Given the description of an element on the screen output the (x, y) to click on. 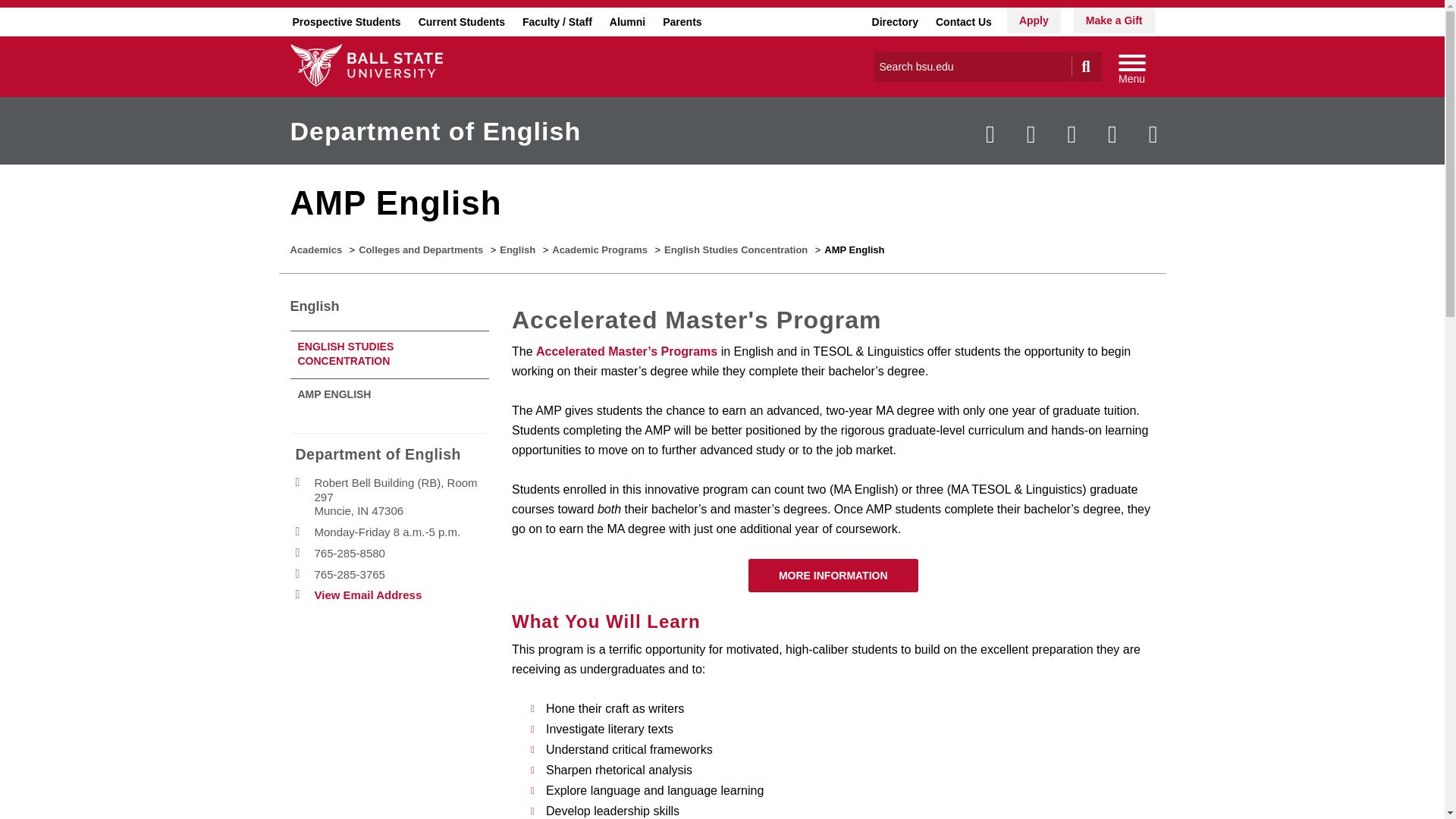
View Email Address (368, 595)
Make a Gift (1114, 20)
Alumni (627, 21)
Tools and Information for Parents and Families (682, 21)
Current Students (461, 21)
How to Apply to Ball State University (1034, 20)
Ball State phone numbers, email and mailing addresses (963, 21)
Apply (1034, 20)
Learn How You Can Give to Ball State University (1114, 20)
Admissions Information for Prospective Students (346, 21)
Contact Us (963, 21)
Resources and Services for Current Students (461, 21)
Toggle navigation (1131, 66)
Parents (682, 21)
Prospective Students (346, 21)
